Given the description of an element on the screen output the (x, y) to click on. 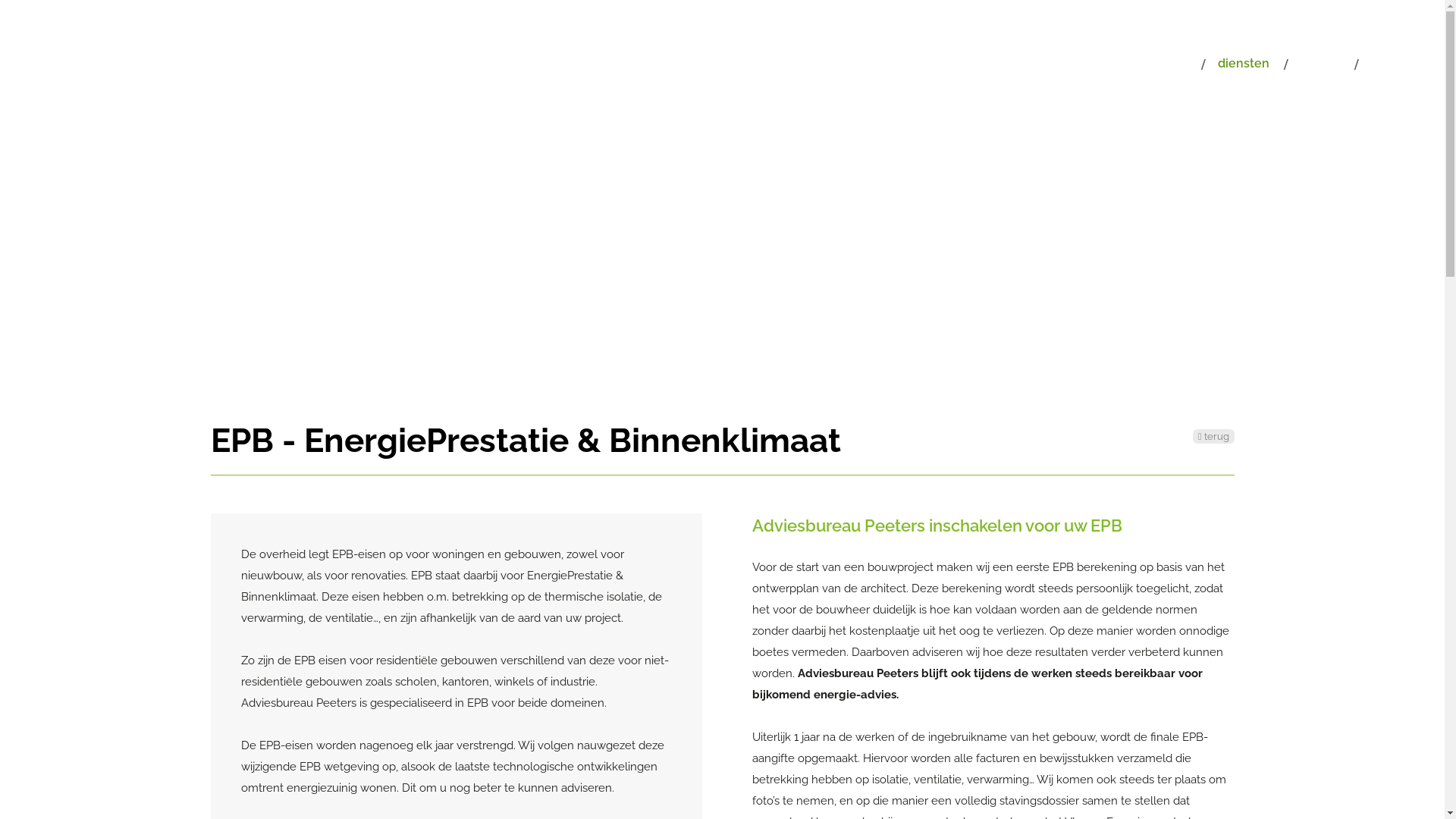
contact Element type: text (1388, 63)
offerte Element type: text (1315, 63)
home Element type: text (1165, 63)
 terug Element type: text (1213, 436)
diensten Element type: text (1239, 63)
